Given the description of an element on the screen output the (x, y) to click on. 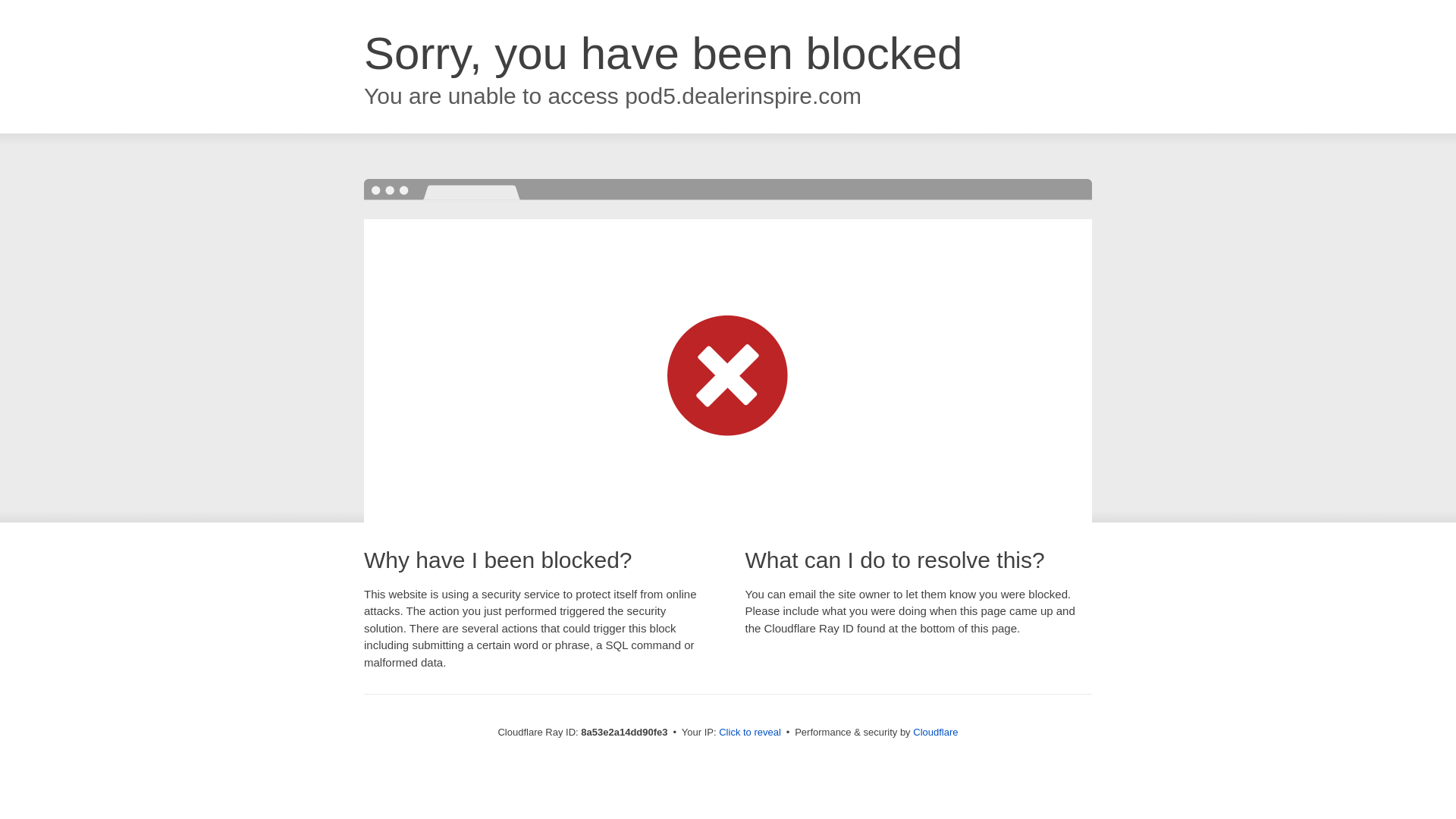
Click to reveal (749, 732)
Cloudflare (935, 731)
